Given the description of an element on the screen output the (x, y) to click on. 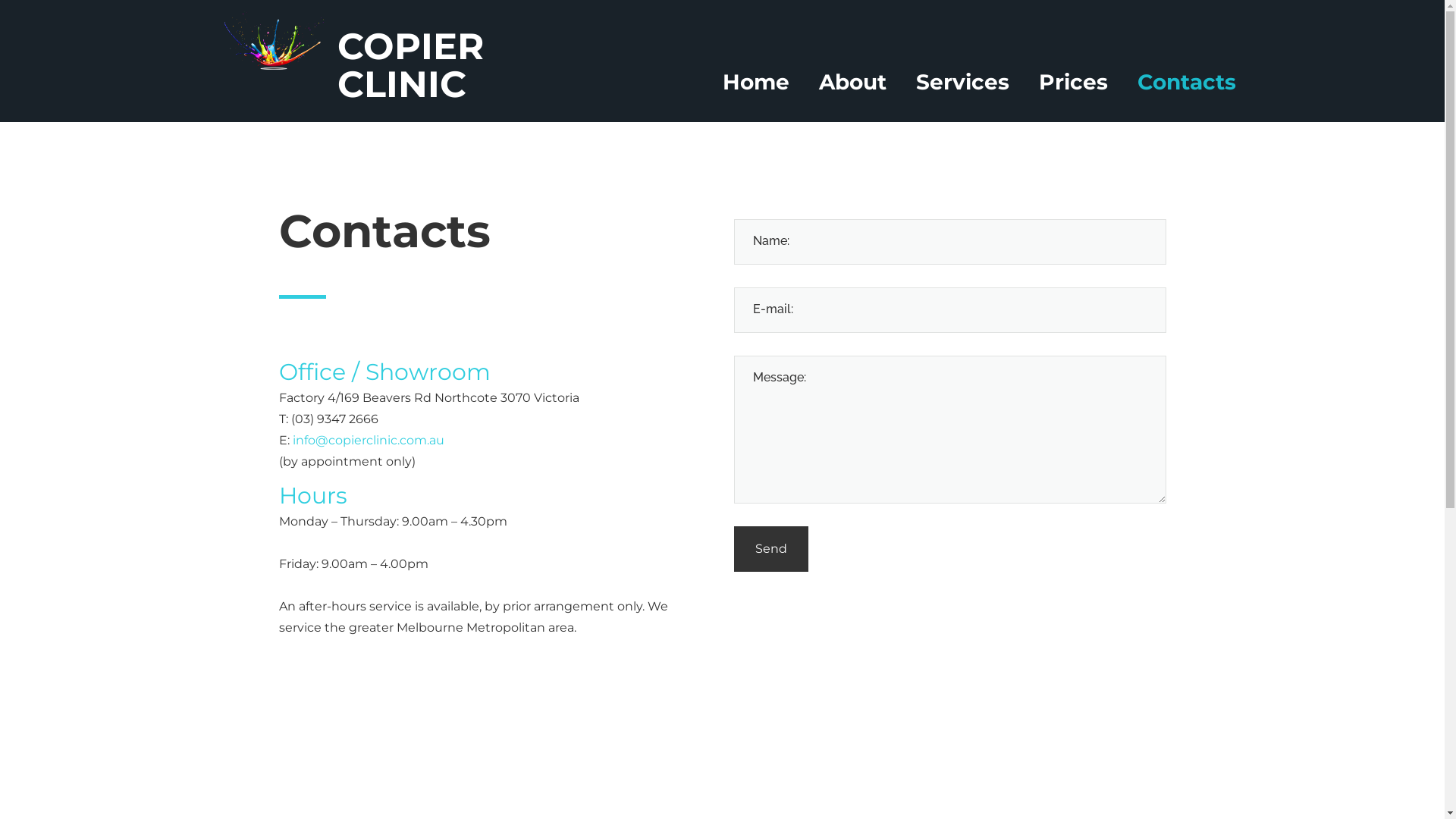
info@copierclinic.com.au Element type: text (368, 440)
Prices Element type: text (1072, 81)
About Element type: text (852, 81)
Contacts Element type: text (1186, 81)
Services Element type: text (962, 81)
Home Element type: text (754, 81)
COPIER CLINIC Element type: text (410, 65)
(03) 9347 2666 Element type: text (334, 418)
Send Element type: text (771, 548)
